Given the description of an element on the screen output the (x, y) to click on. 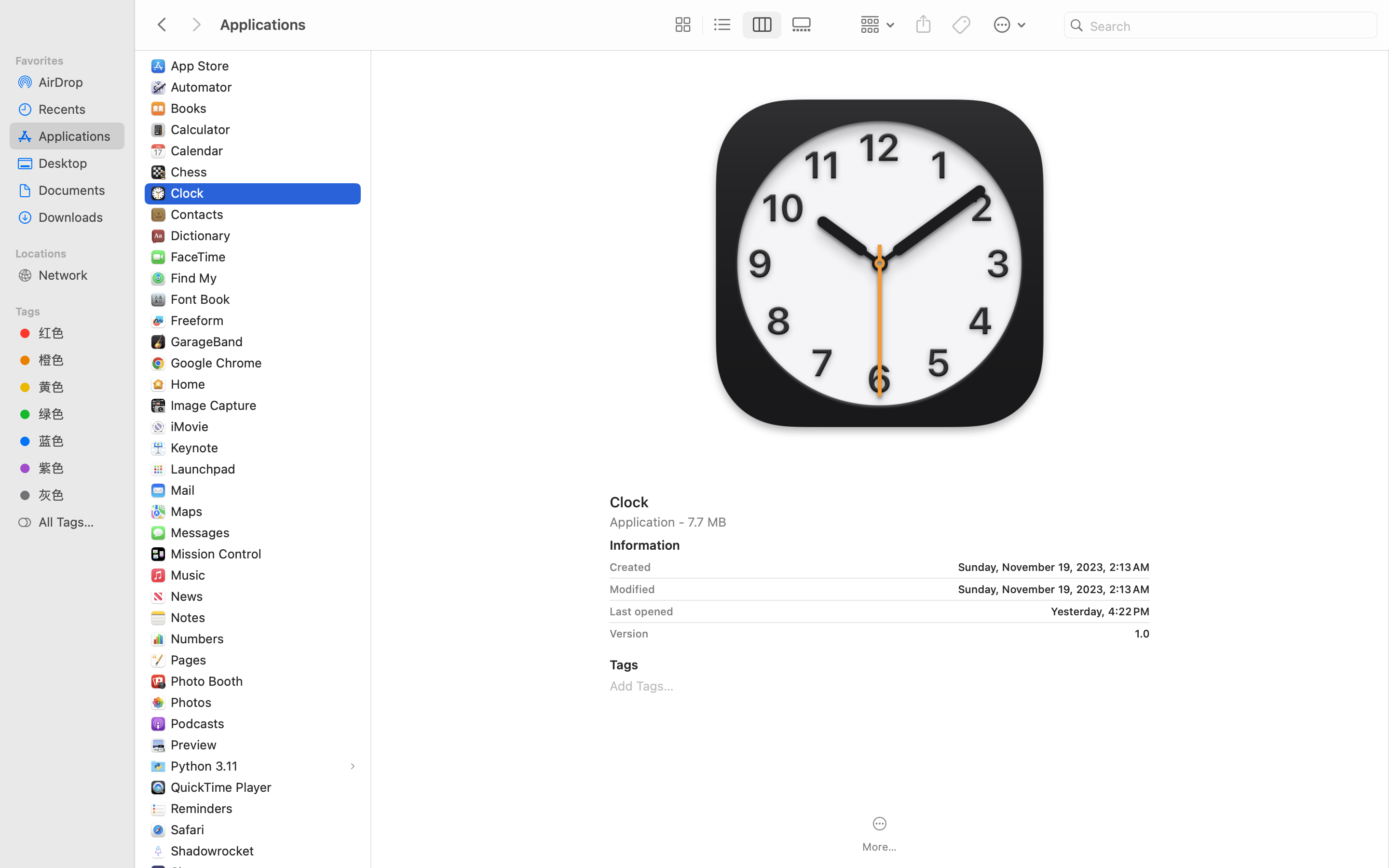
0.0 Element type: AXValueIndicator (364, 359)
Keynote Element type: AXTextField (196, 447)
Google Chrome Element type: AXTextField (218, 362)
Preview Element type: AXTextField (195, 744)
Launchpad Element type: AXTextField (205, 468)
